Given the description of an element on the screen output the (x, y) to click on. 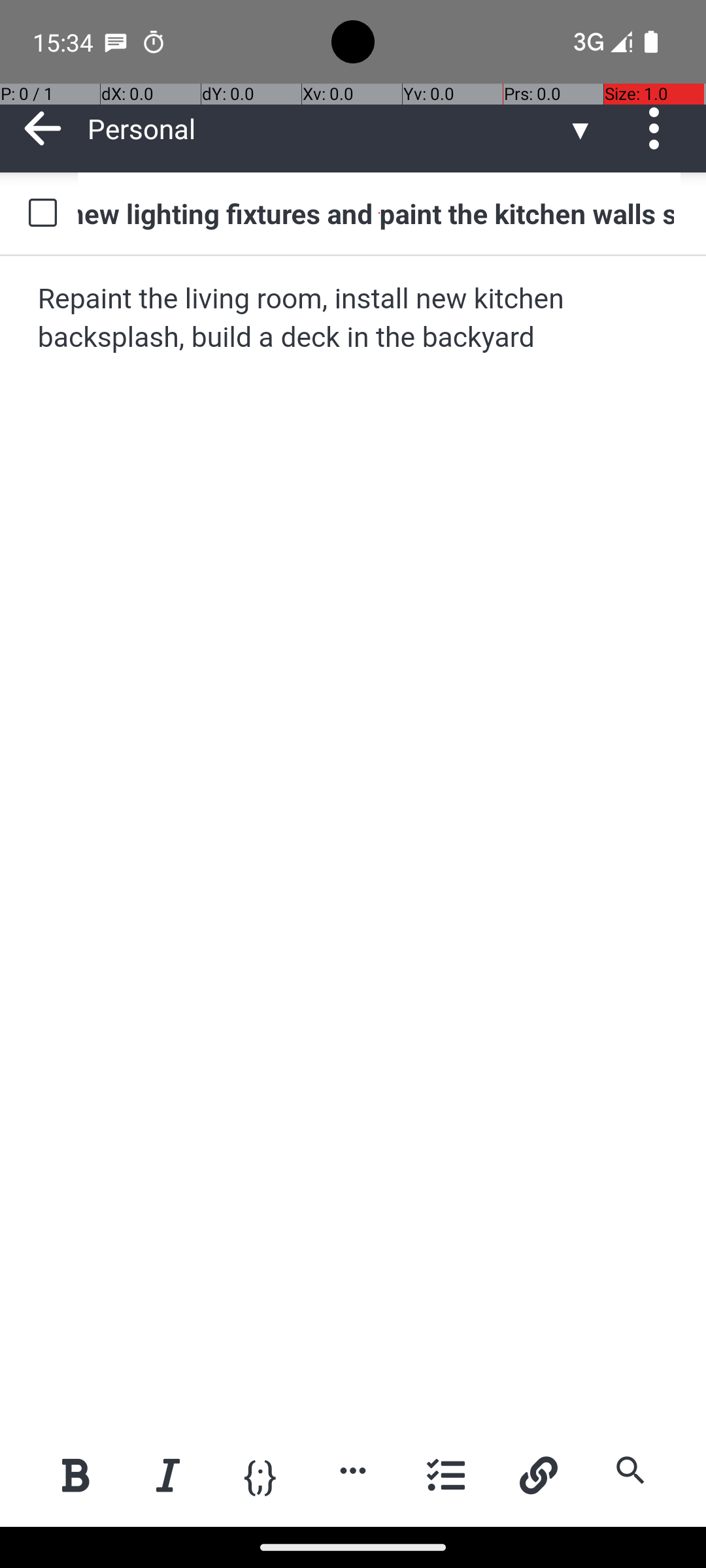
Home Improvement ProjRenovate the bathroom and add newInstall new lighting fixtures and paint the kitchen walls shelves in the garageects Element type: android.widget.EditText (378, 213)
Repaint the living room, install new kitchen backsplash, build a deck in the backyard Element type: android.widget.EditText (354, 318)
